Given the description of an element on the screen output the (x, y) to click on. 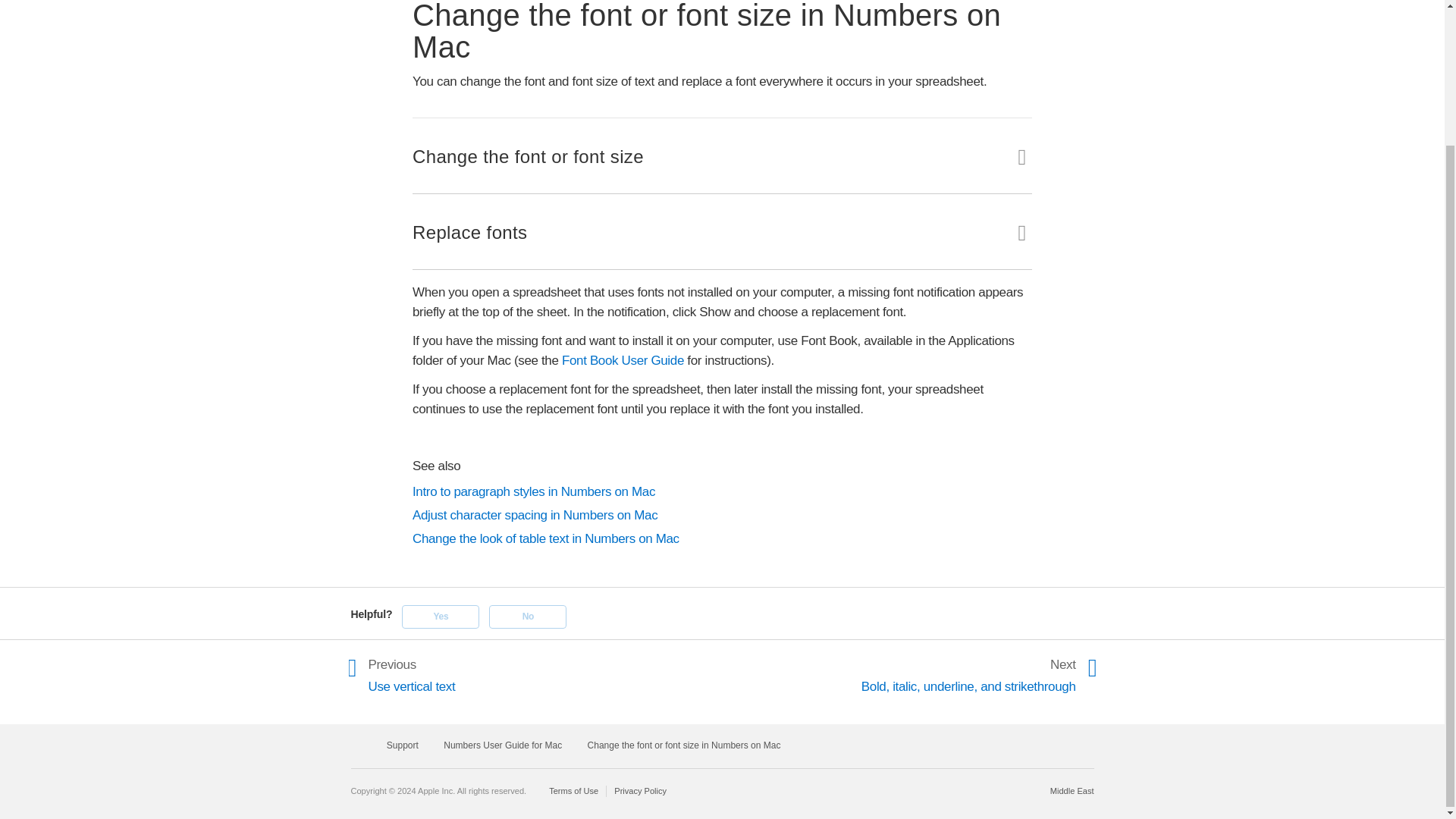
Numbers User Guide for Mac (503, 745)
Support (403, 745)
Adjust character spacing in Numbers on Mac (722, 515)
No (527, 616)
Terms of Use (577, 790)
Yes (440, 616)
Change the font or font size (727, 149)
Change the look of table text in Numbers on Mac (722, 538)
Font Book User Guide (623, 359)
Middle East (1071, 790)
Solved my problem (440, 616)
Replace fonts (727, 225)
Intro to paragraph styles in Numbers on Mac (722, 492)
Choose your country or region (1071, 790)
Not helpful (527, 616)
